Given the description of an element on the screen output the (x, y) to click on. 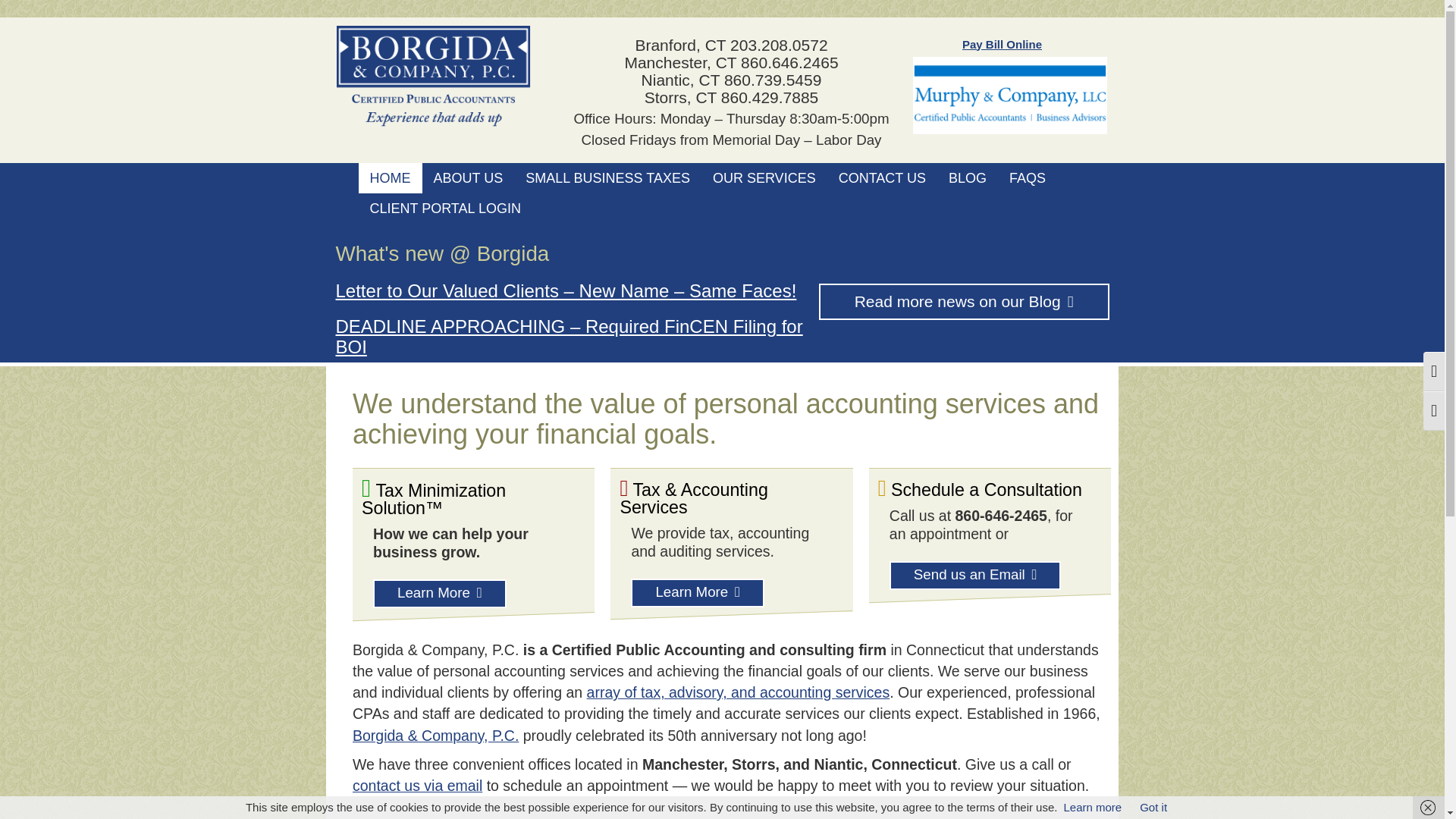
FAQS (1027, 177)
Learn More (697, 592)
CLIENT PORTAL LOGIN (444, 208)
OUR SERVICES (764, 177)
SMALL BUSINESS TAXES (607, 177)
Read more news on our Blog (963, 301)
HOME (390, 177)
BLOG (967, 177)
Learn More (439, 593)
ABOUT US (467, 177)
array of tax, advisory, and accounting services (737, 692)
Pay Bill Online (1002, 43)
Send us an Email (975, 575)
CONTACT US (882, 177)
